Given the description of an element on the screen output the (x, y) to click on. 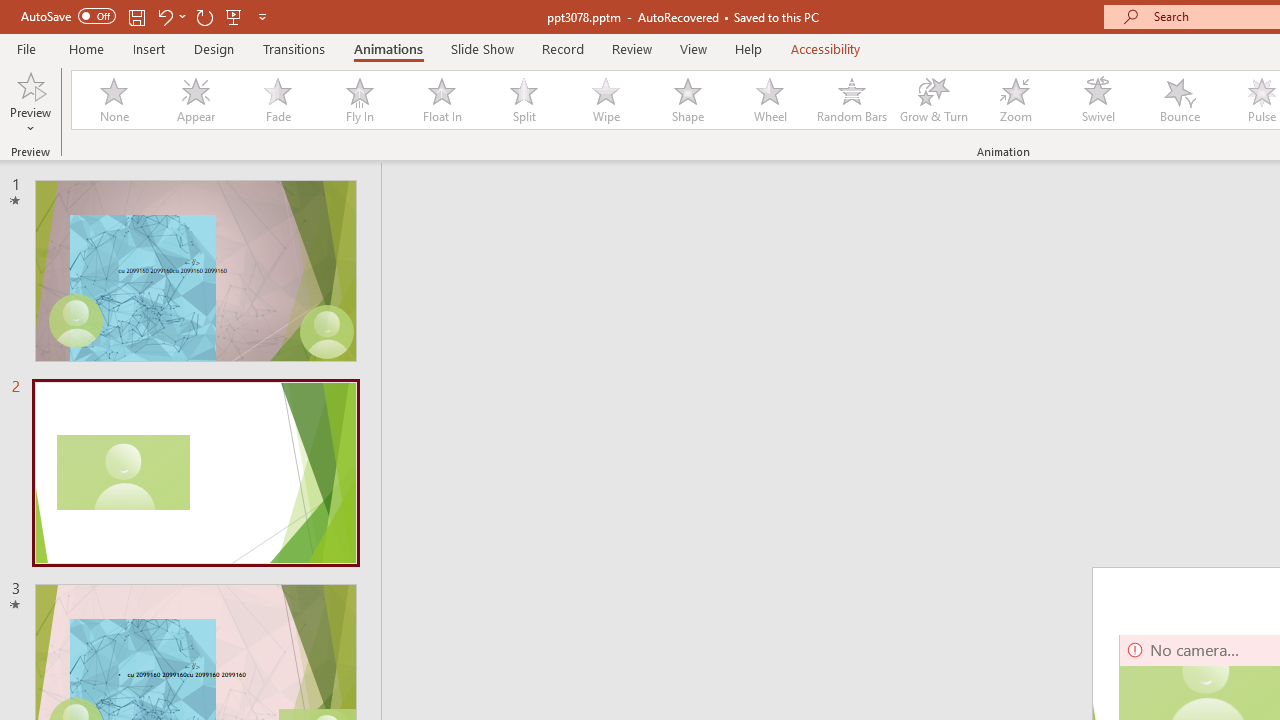
Bounce (1180, 100)
Wheel (770, 100)
Preview (30, 84)
Appear (195, 100)
Grow & Turn (934, 100)
